Given the description of an element on the screen output the (x, y) to click on. 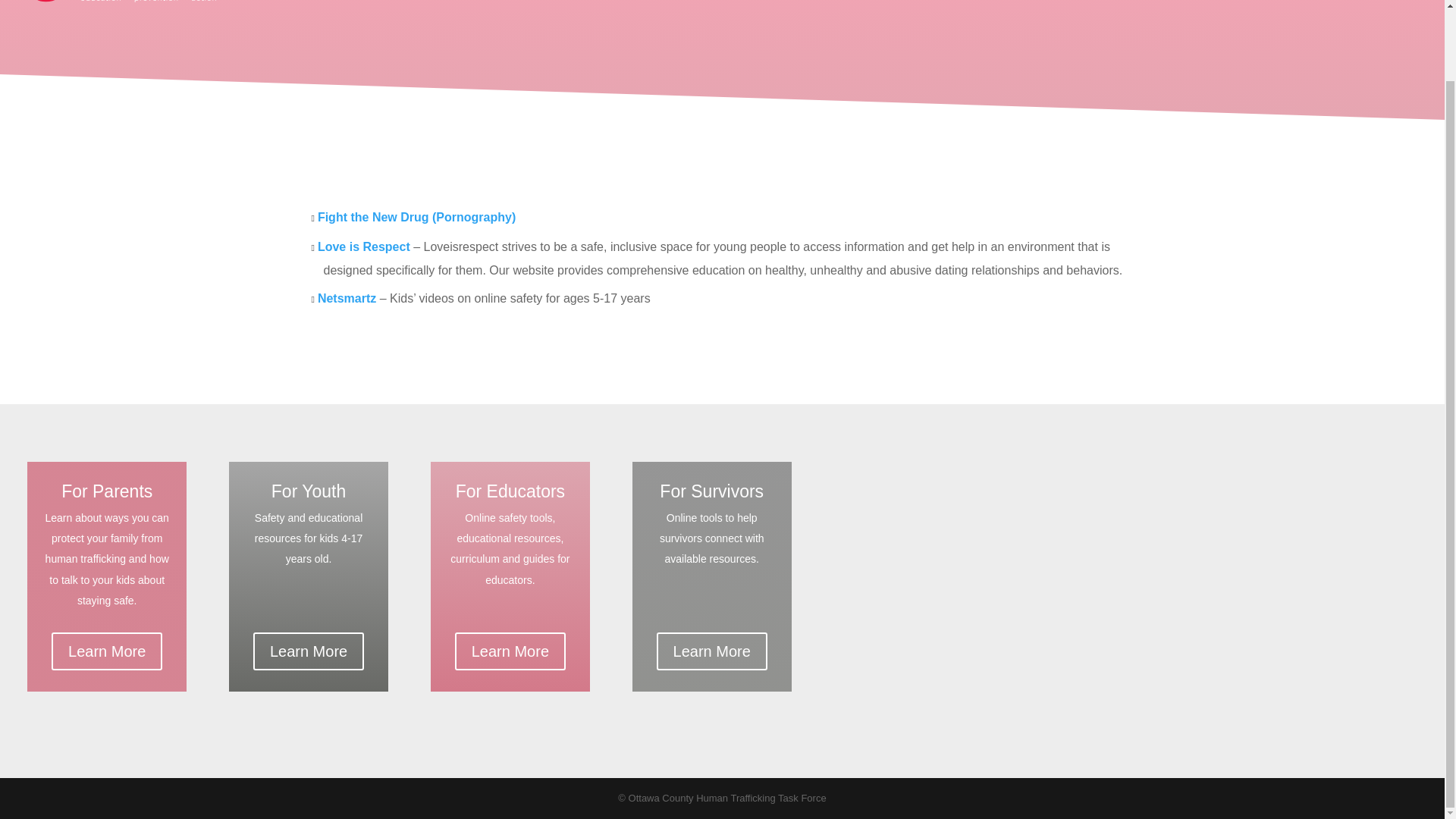
Love is Respect (363, 246)
Learn More (308, 651)
Learn More (711, 651)
Learn More (105, 651)
Netsmartz (346, 297)
Learn More (510, 651)
